Given the description of an element on the screen output the (x, y) to click on. 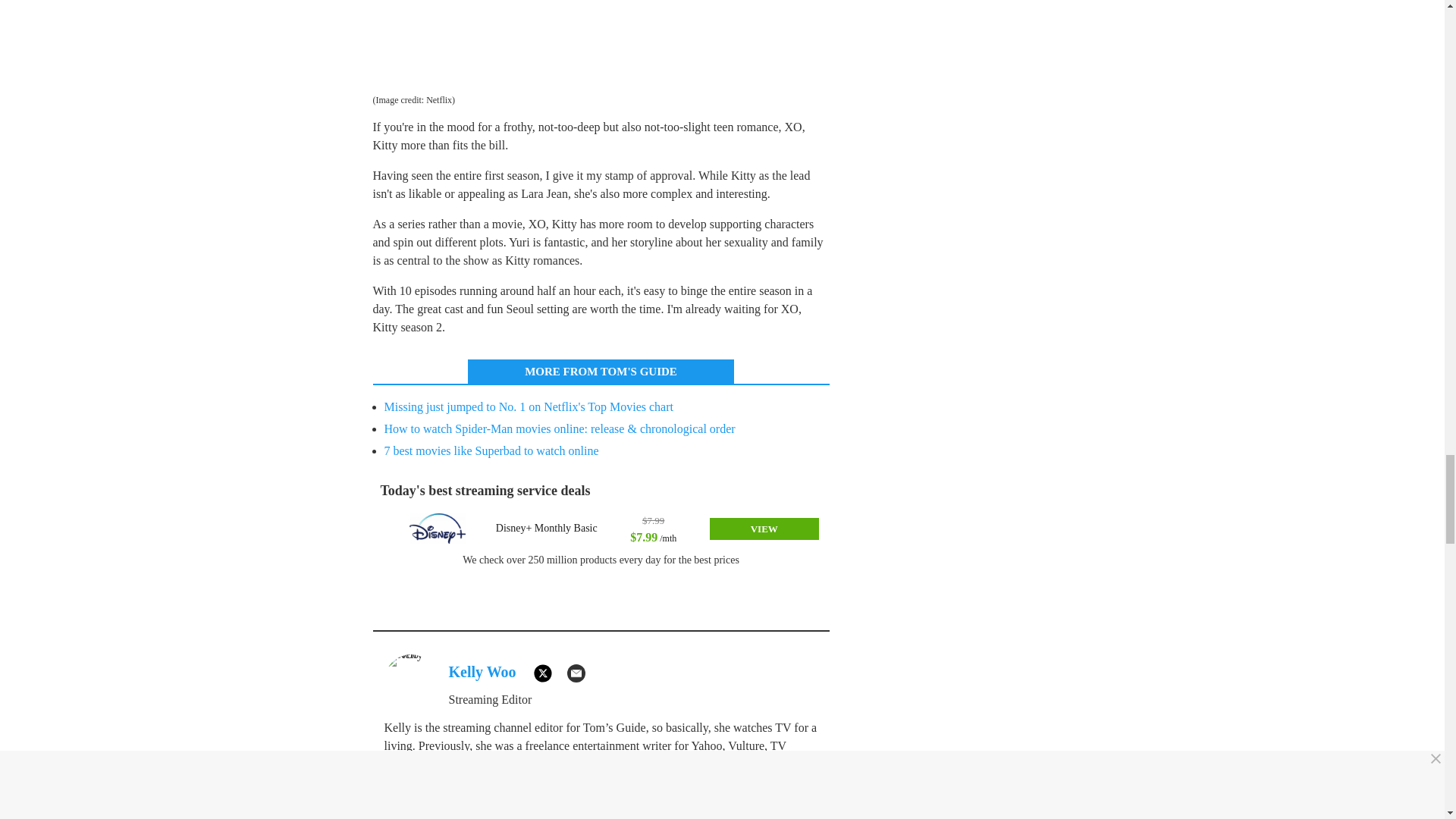
Disney (437, 528)
